Given the description of an element on the screen output the (x, y) to click on. 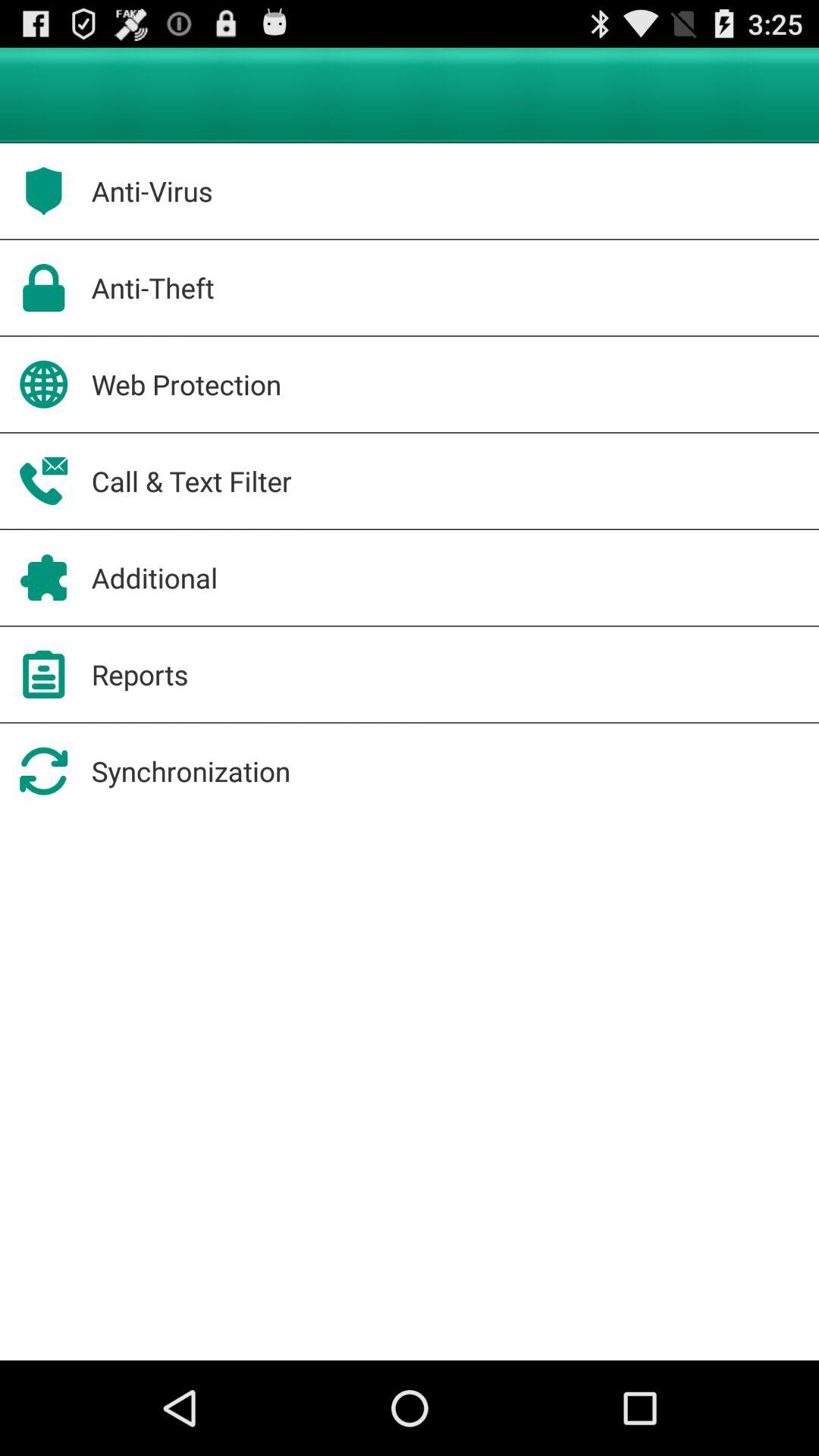
press icon above the synchronization icon (139, 674)
